Given the description of an element on the screen output the (x, y) to click on. 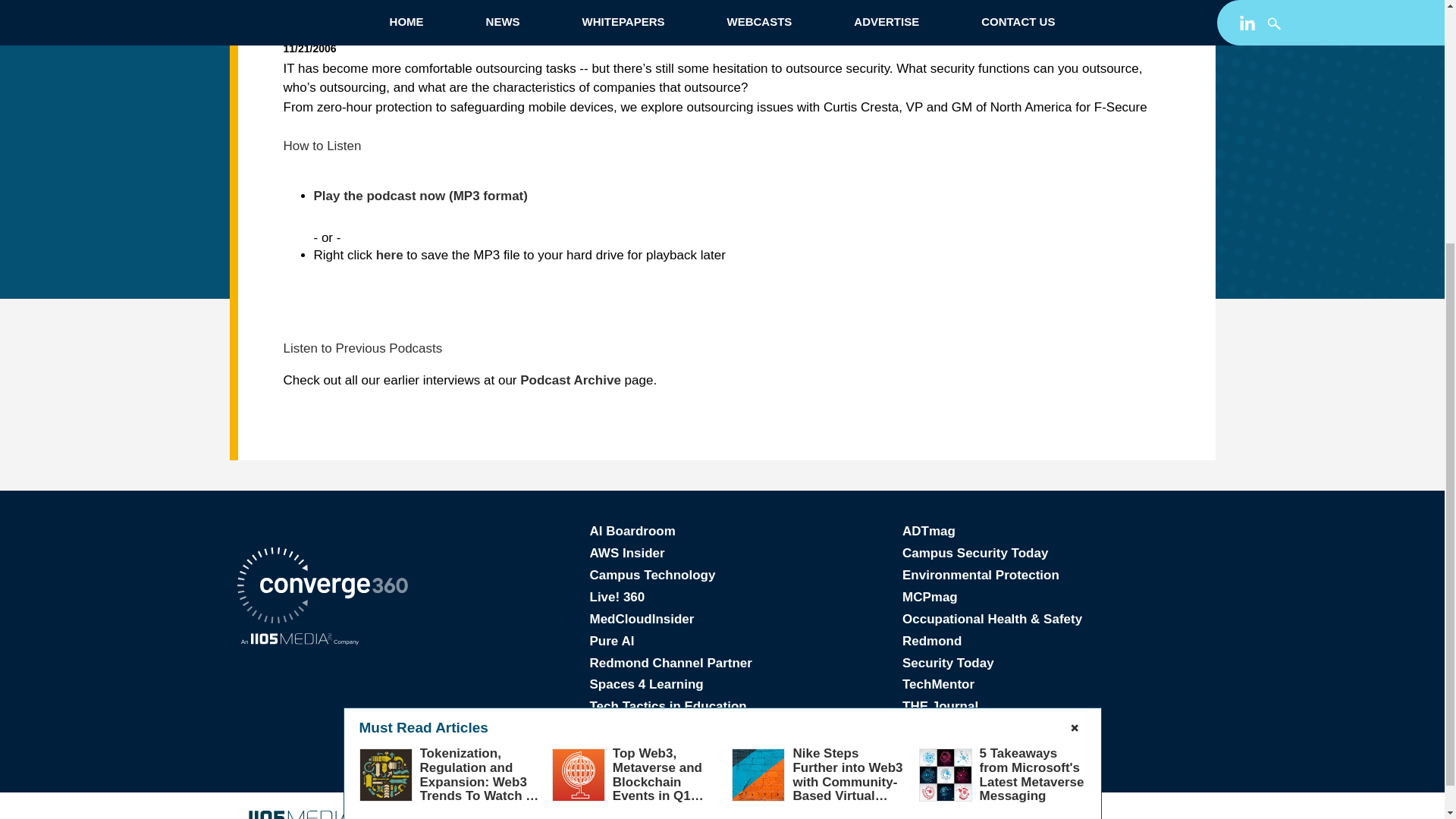
Environmental Protection (980, 575)
5 Takeaways from Microsoft's Latest Metaverse Messaging (1031, 422)
Live! 360 (617, 596)
Campus Security Today (975, 553)
MCPmag (930, 596)
ADTmag (928, 531)
Campus Technology (652, 575)
AI Boardroom (632, 531)
here (389, 255)
Redmond (931, 640)
